Given the description of an element on the screen output the (x, y) to click on. 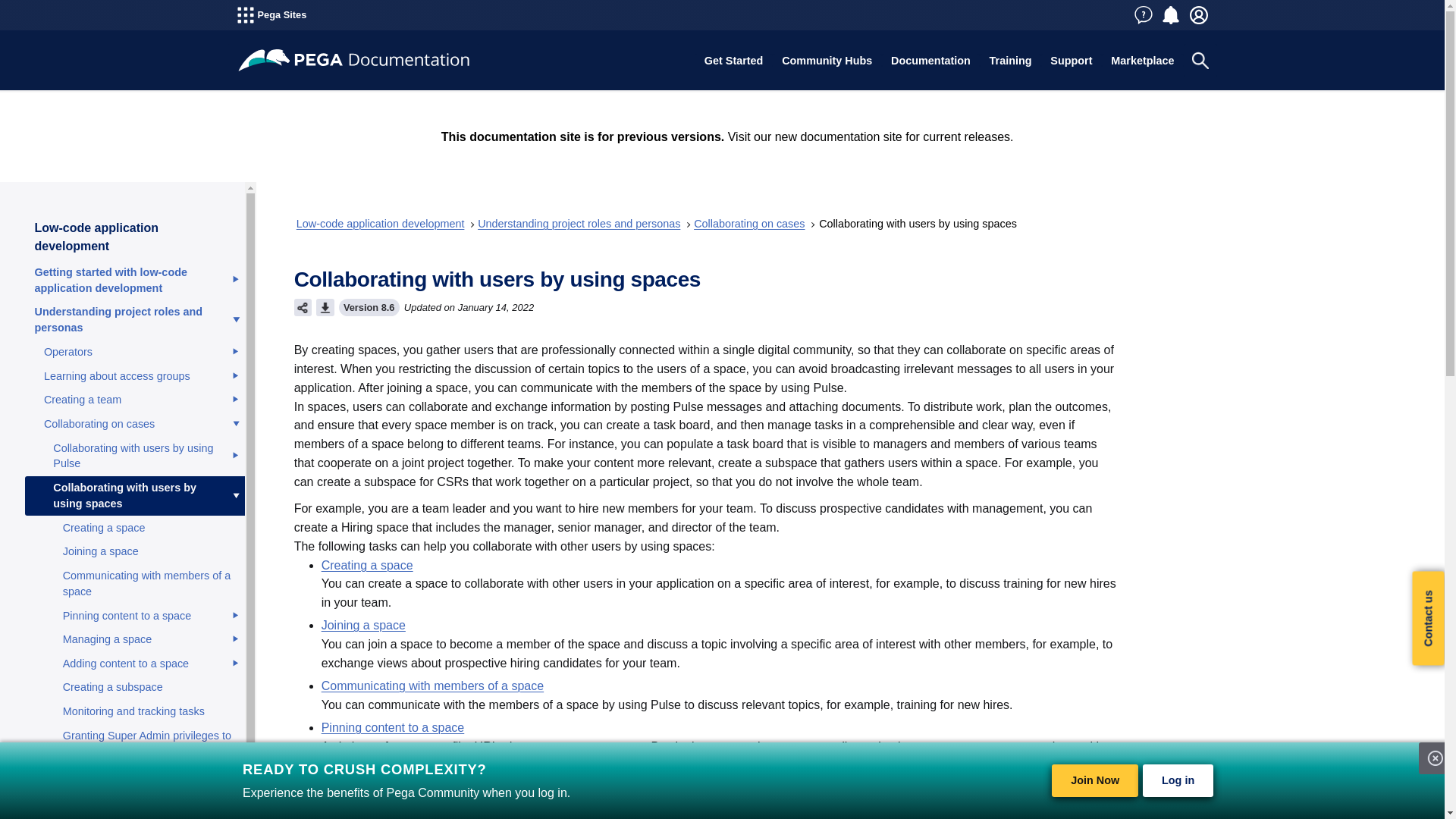
Get Started (732, 60)
Community Hubs (827, 60)
Toggle Search Panel (1200, 60)
